Given the description of an element on the screen output the (x, y) to click on. 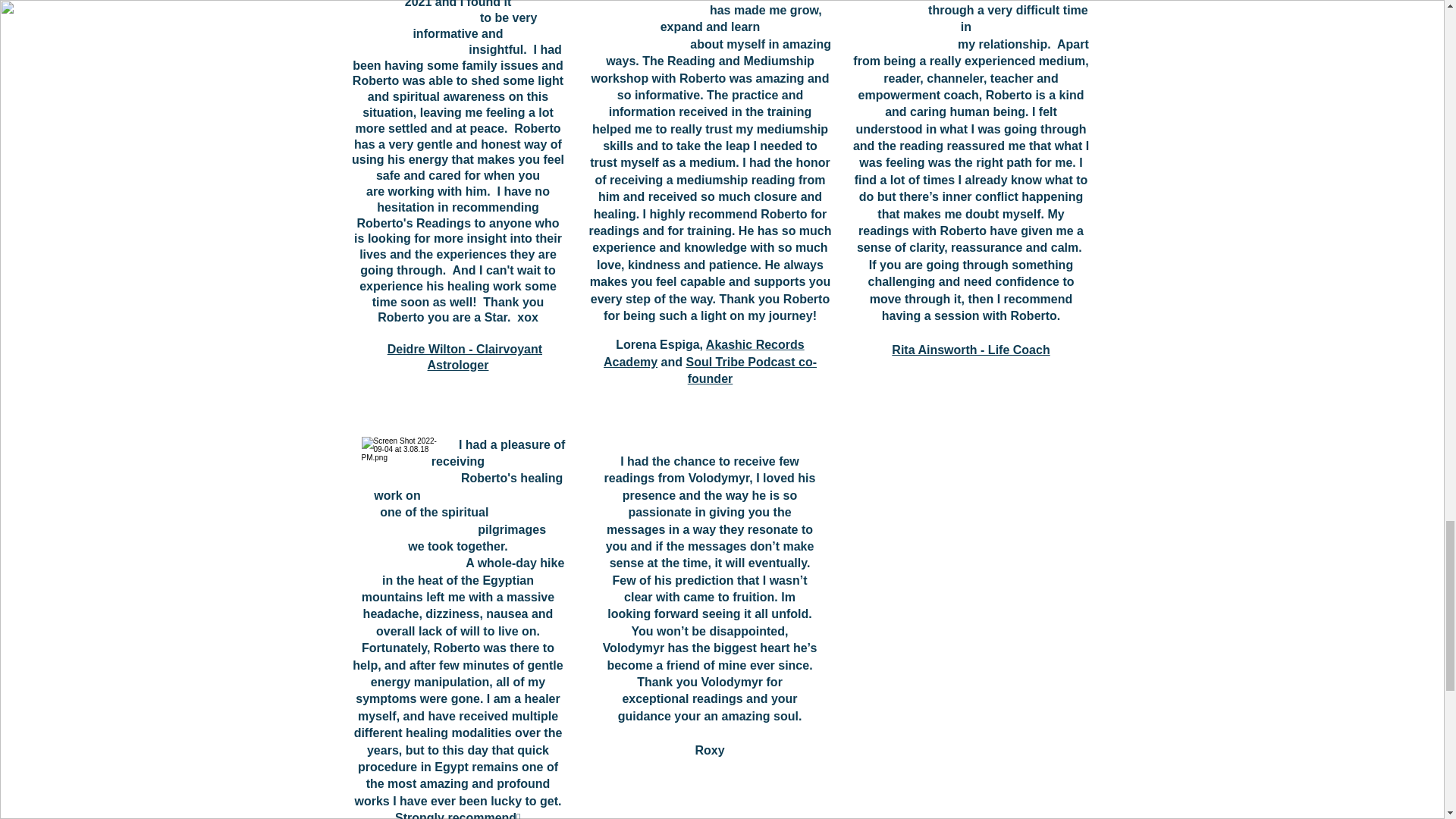
Akashic Records Academy (704, 352)
Deidre Wilton - Clairvoyant Astrologer (464, 357)
Soul Tribe Podcast co-founder (750, 369)
